Given the description of an element on the screen output the (x, y) to click on. 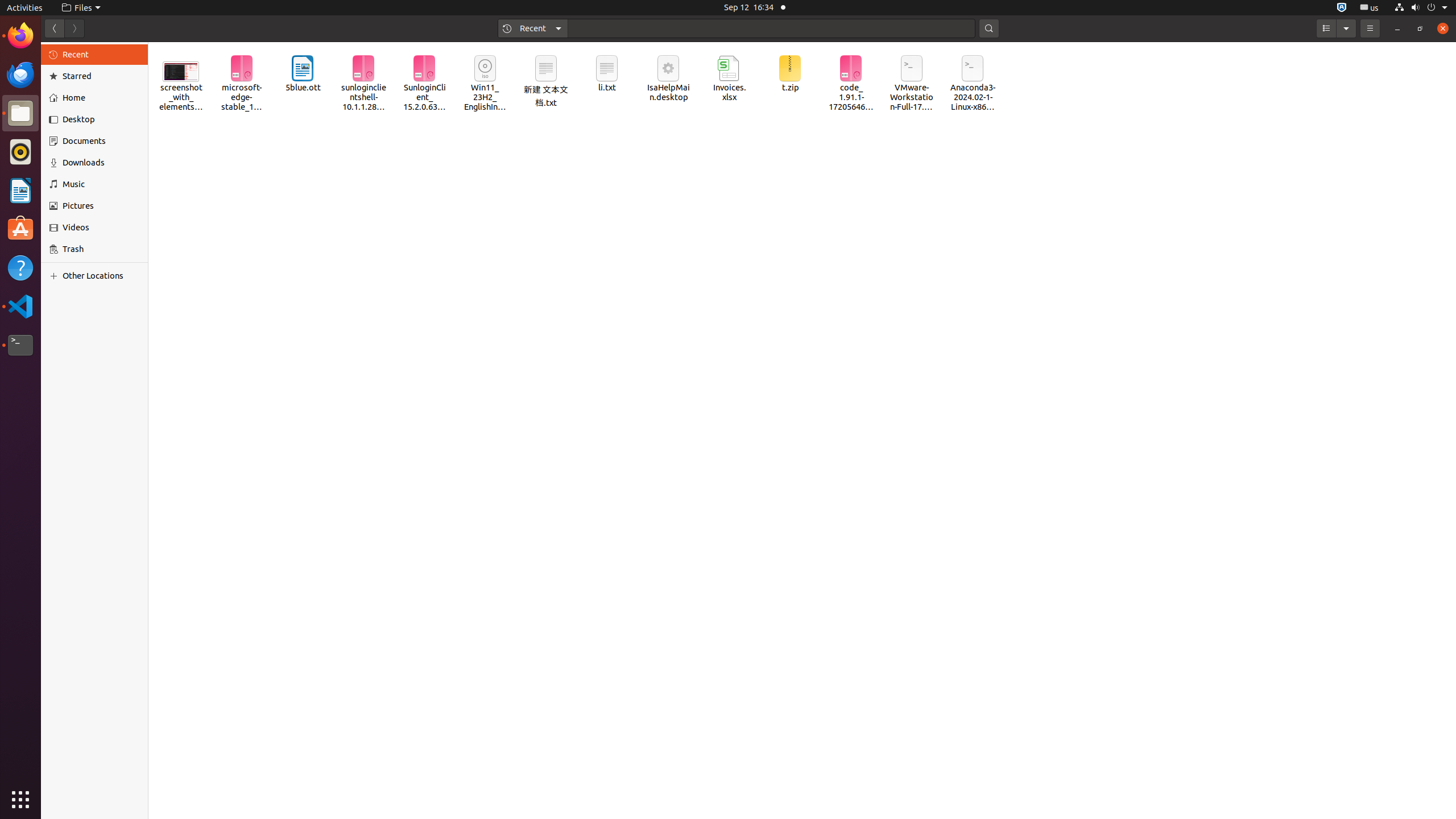
Icon View Element type: layered-pane (802, 430)
Content View Element type: panel (802, 430)
screenshot_with_elements.png Element type: canvas (180, 79)
